Given the description of an element on the screen output the (x, y) to click on. 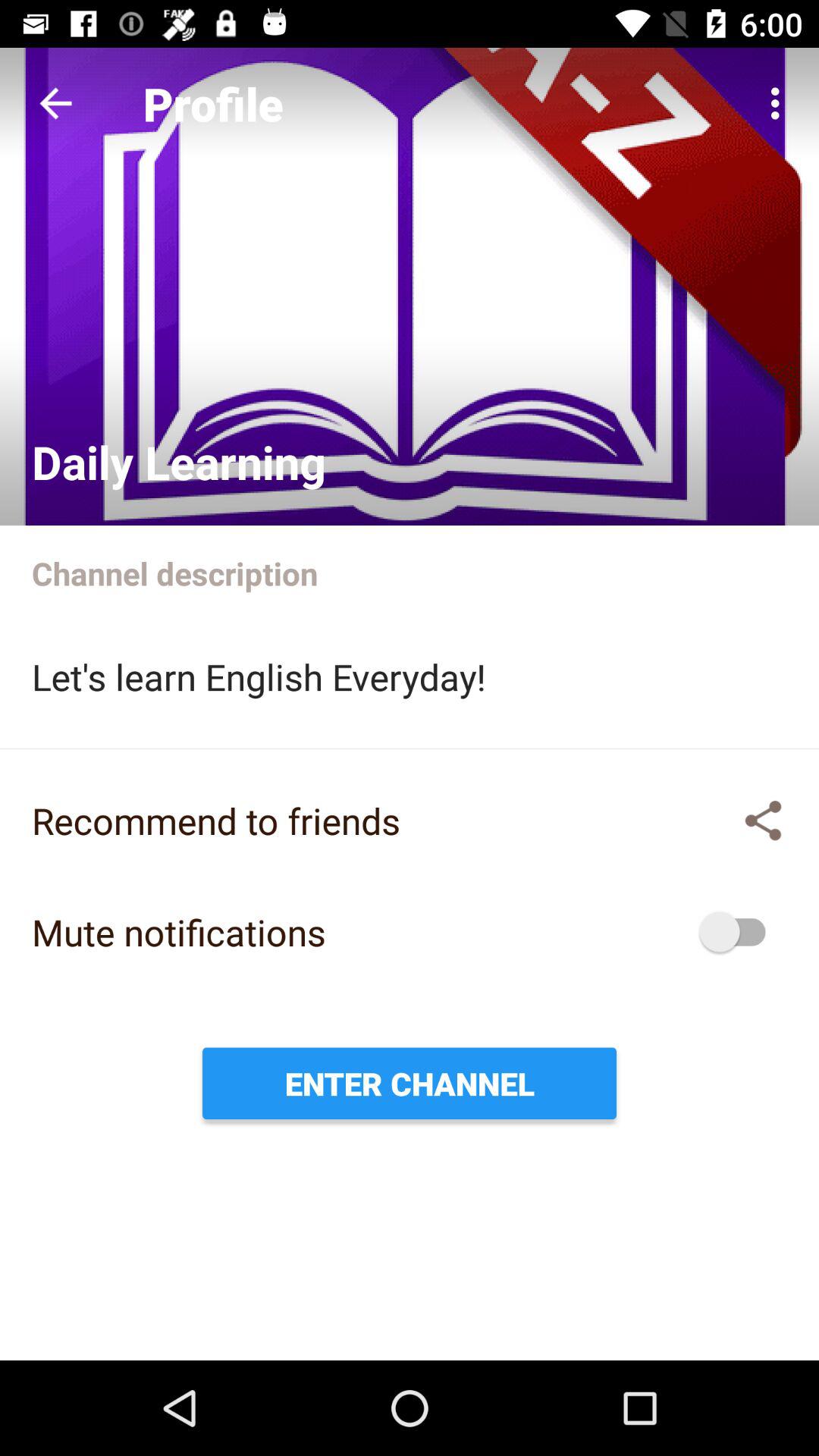
press item above the daily learning item (55, 103)
